Given the description of an element on the screen output the (x, y) to click on. 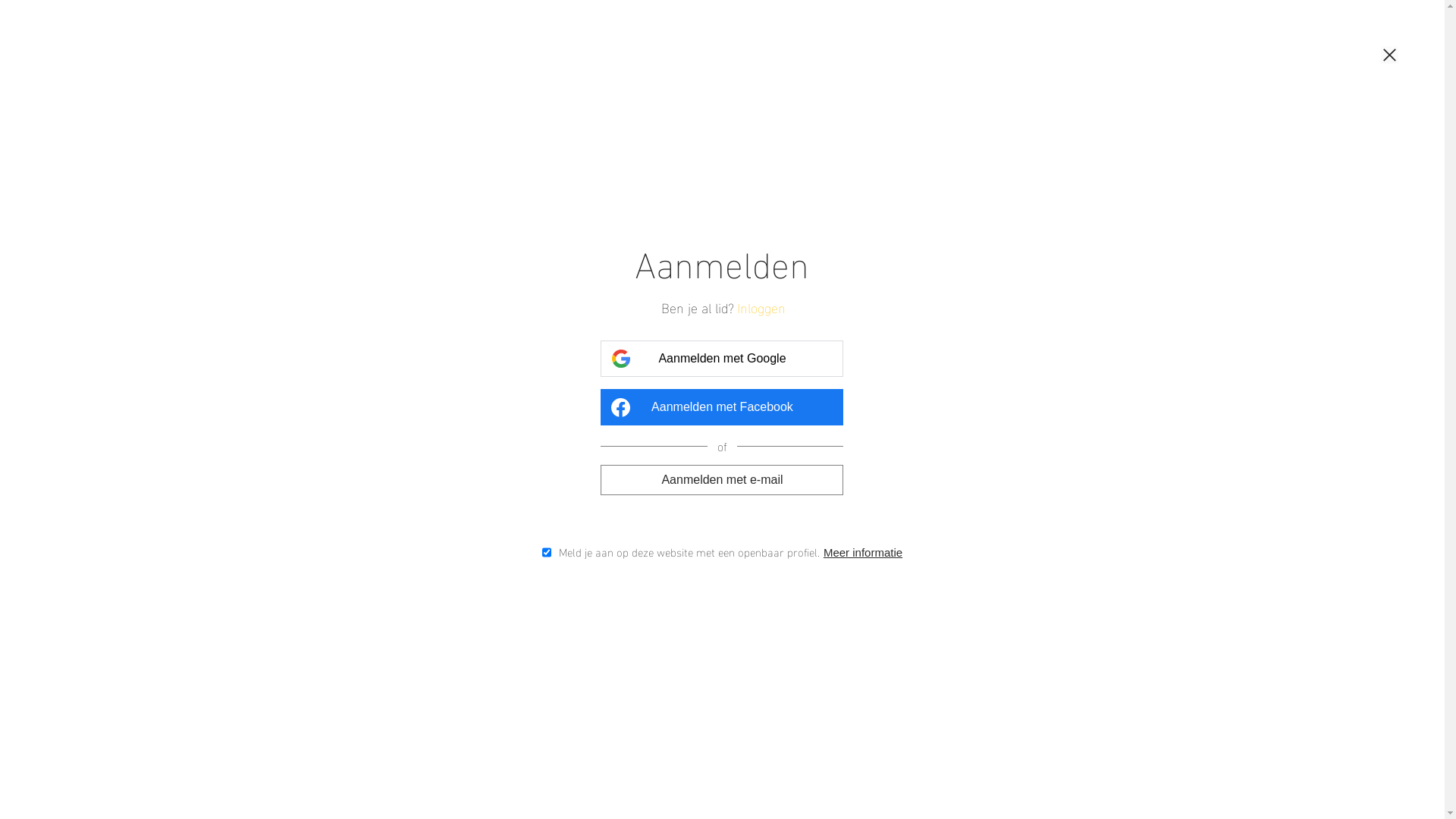
Inloggen Element type: text (763, 306)
Aanmelden met e-mail Element type: text (721, 479)
Aanmelden met Google Element type: text (721, 358)
Meer informatie Element type: text (870, 551)
Aanmelden met Facebook Element type: text (721, 407)
